Given the description of an element on the screen output the (x, y) to click on. 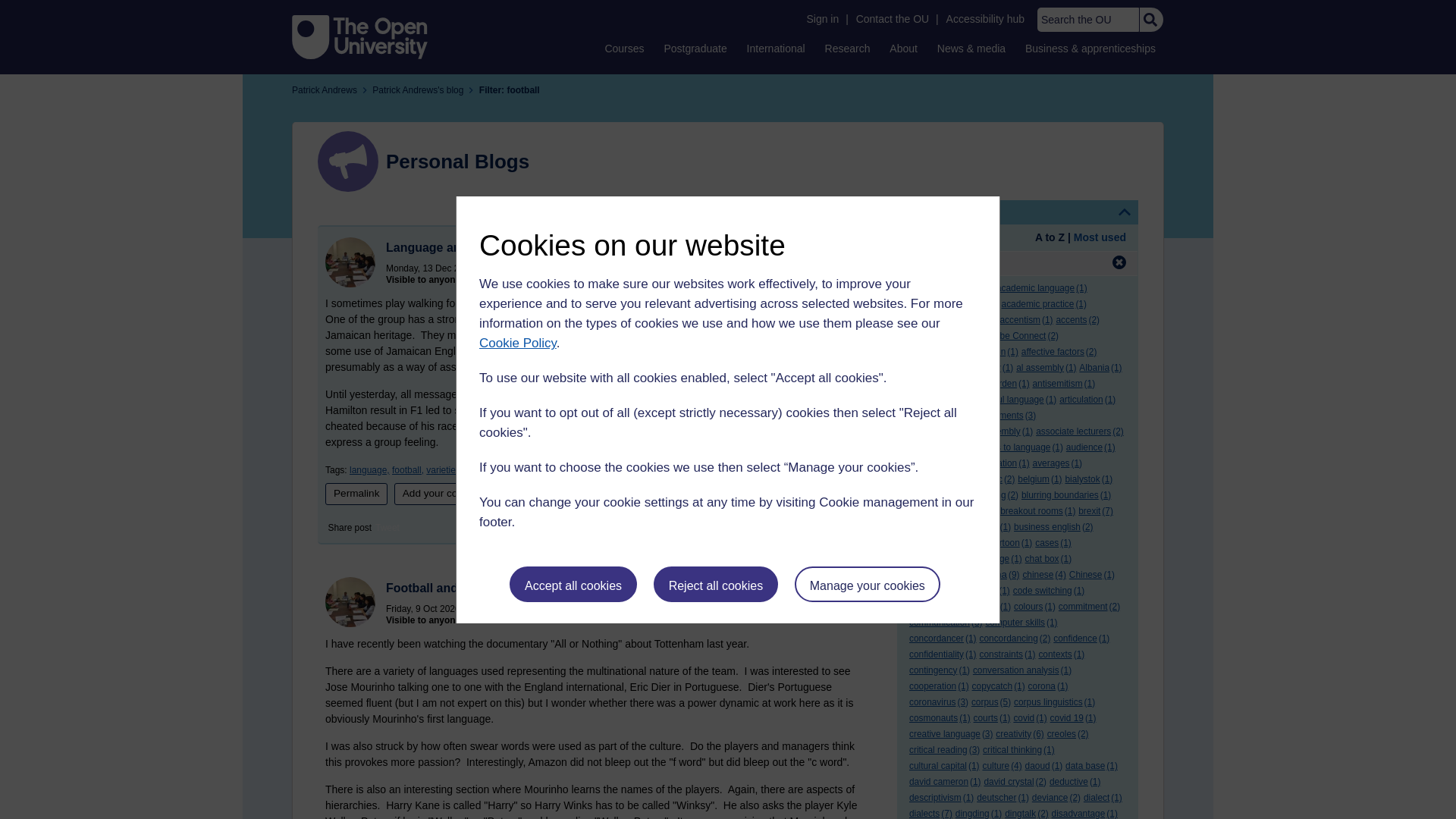
Reject all cookies (715, 583)
Accessibility hub (985, 19)
The Open University (360, 36)
International (775, 48)
Accept all cookies (573, 583)
Help with Order: (951, 238)
Cookie Policy (517, 342)
Search (1149, 19)
Sign in (822, 19)
About (903, 48)
Courses (623, 48)
Click to remove filter tag (1118, 262)
Search (1149, 19)
Postgraduate (695, 48)
Research (847, 48)
